Given the description of an element on the screen output the (x, y) to click on. 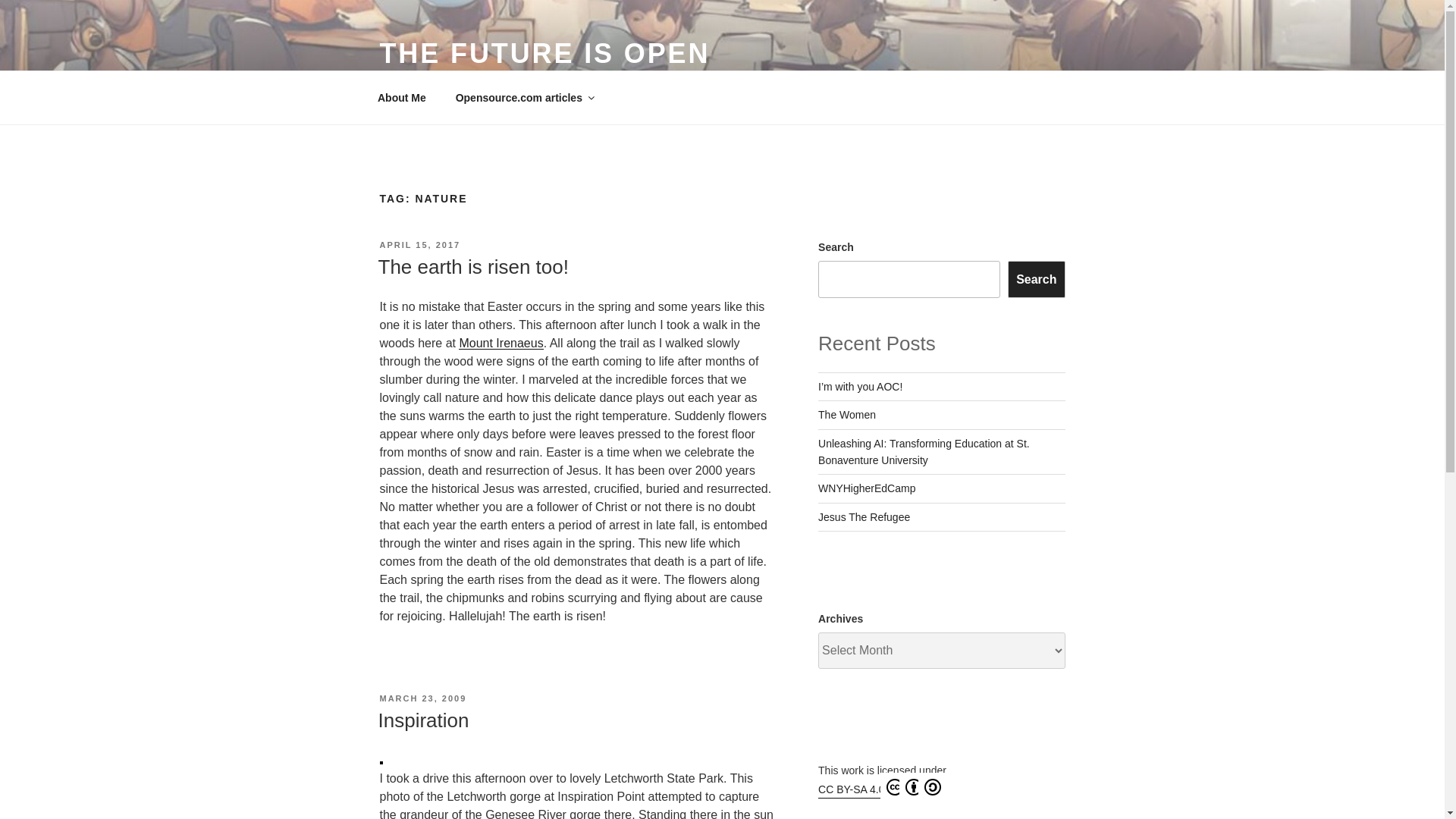
CC BY-SA 4.0 (879, 787)
Opensource.com articles (523, 97)
The earth is risen too! (472, 266)
Search (1035, 279)
About Me (401, 97)
Inspiration (422, 720)
Mount Irenaeus (500, 342)
THE FUTURE IS OPEN (544, 52)
WNYHigherEdCamp (866, 488)
The Women (847, 414)
APRIL 15, 2017 (419, 244)
Jesus The Refugee (864, 517)
MARCH 23, 2009 (421, 697)
